Given the description of an element on the screen output the (x, y) to click on. 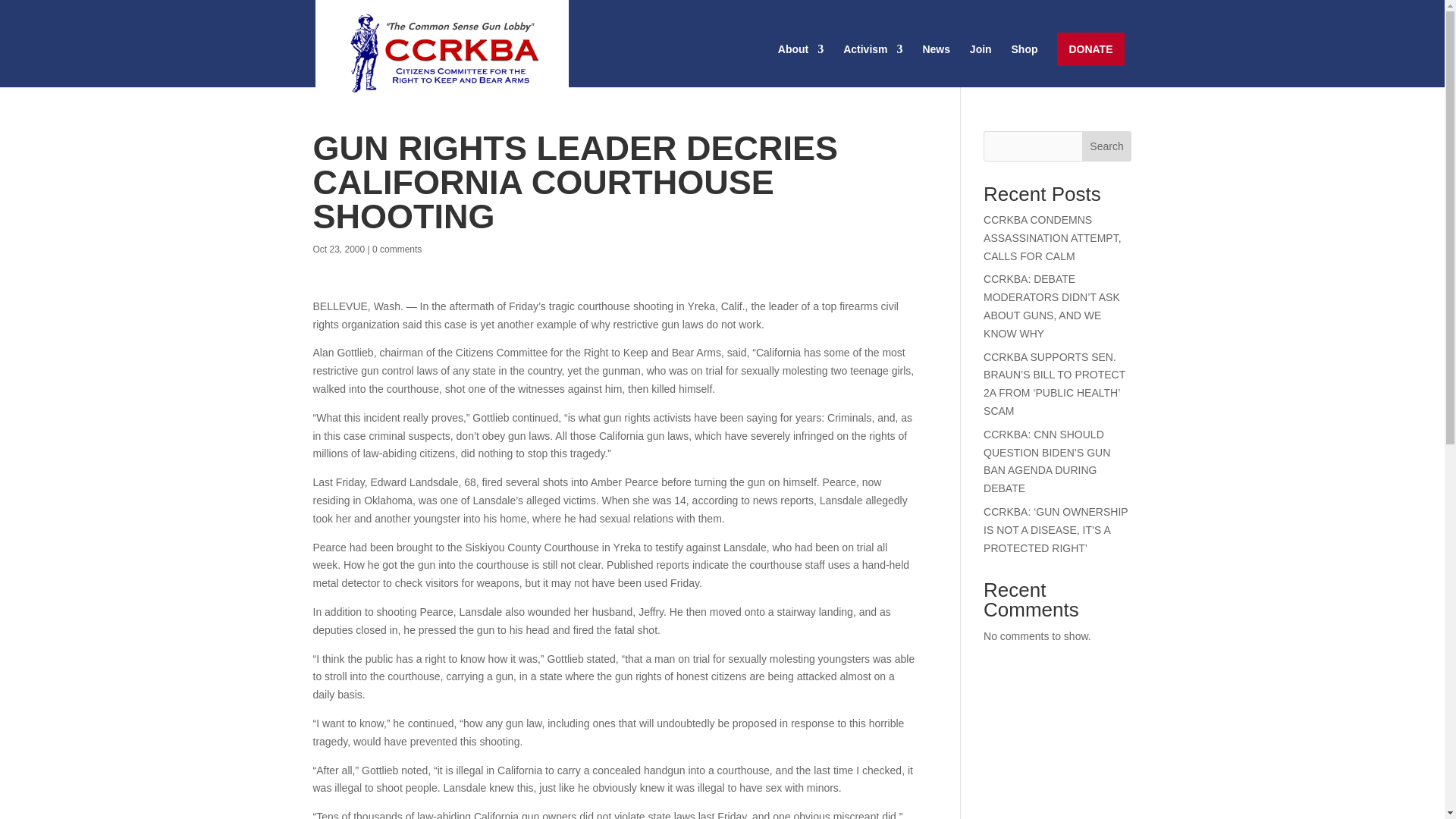
DONATE (1090, 49)
Search (1106, 146)
Activism (872, 65)
CCRKBA CONDEMNS ASSASSINATION ATTEMPT, CALLS FOR CALM (1052, 237)
Join (980, 65)
0 comments (397, 249)
News (935, 65)
About (800, 65)
Shop (1024, 65)
